Given the description of an element on the screen output the (x, y) to click on. 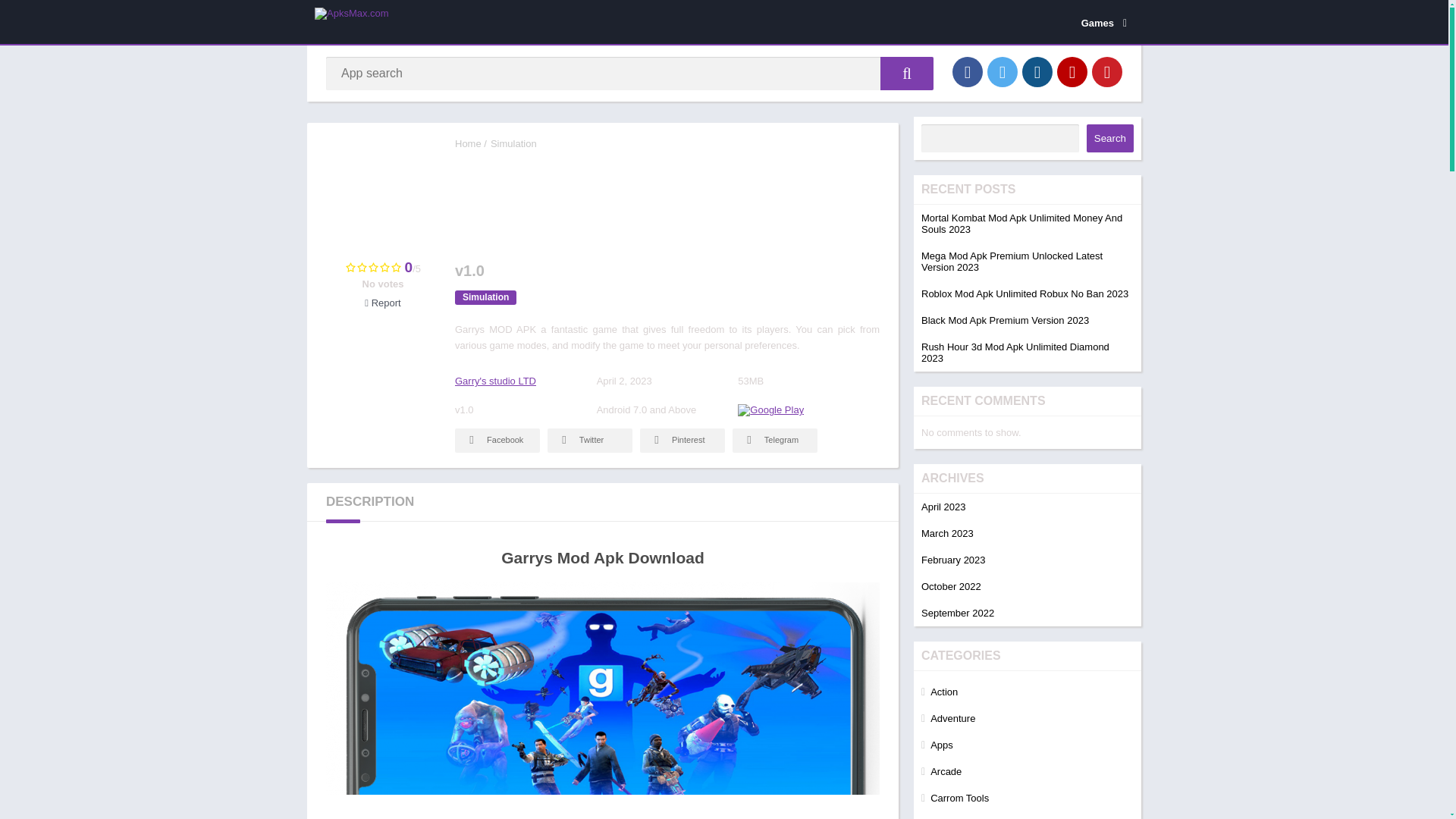
Twitter (589, 440)
Instagram (1037, 71)
Games (1101, 22)
App search (906, 73)
Garry's studio LTD (494, 380)
Facebook (967, 71)
Facebook (497, 440)
YouTube (1072, 71)
Telegram (774, 440)
Twitter (1002, 71)
